Given the description of an element on the screen output the (x, y) to click on. 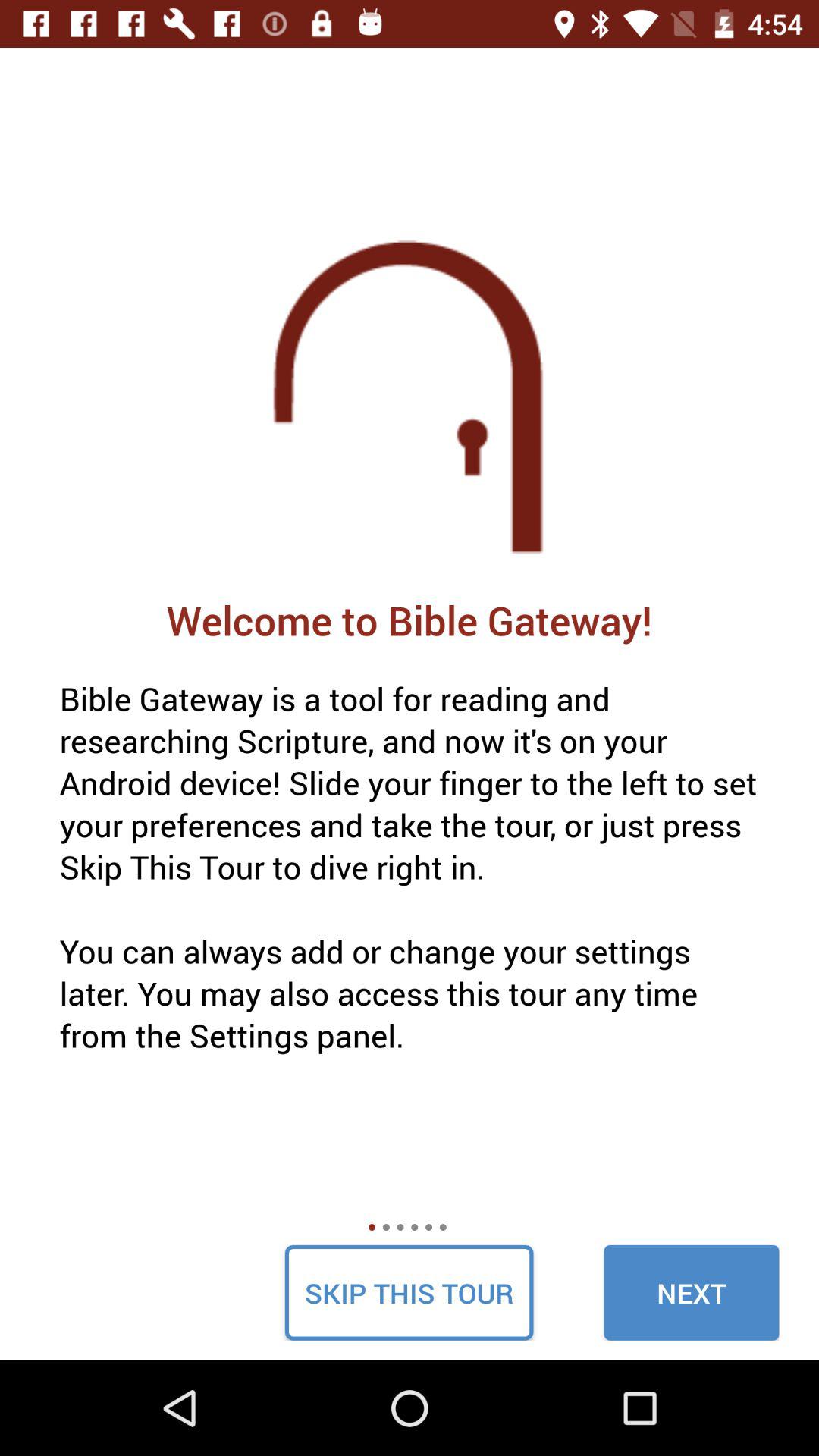
select the item at the bottom right corner (691, 1292)
